Given the description of an element on the screen output the (x, y) to click on. 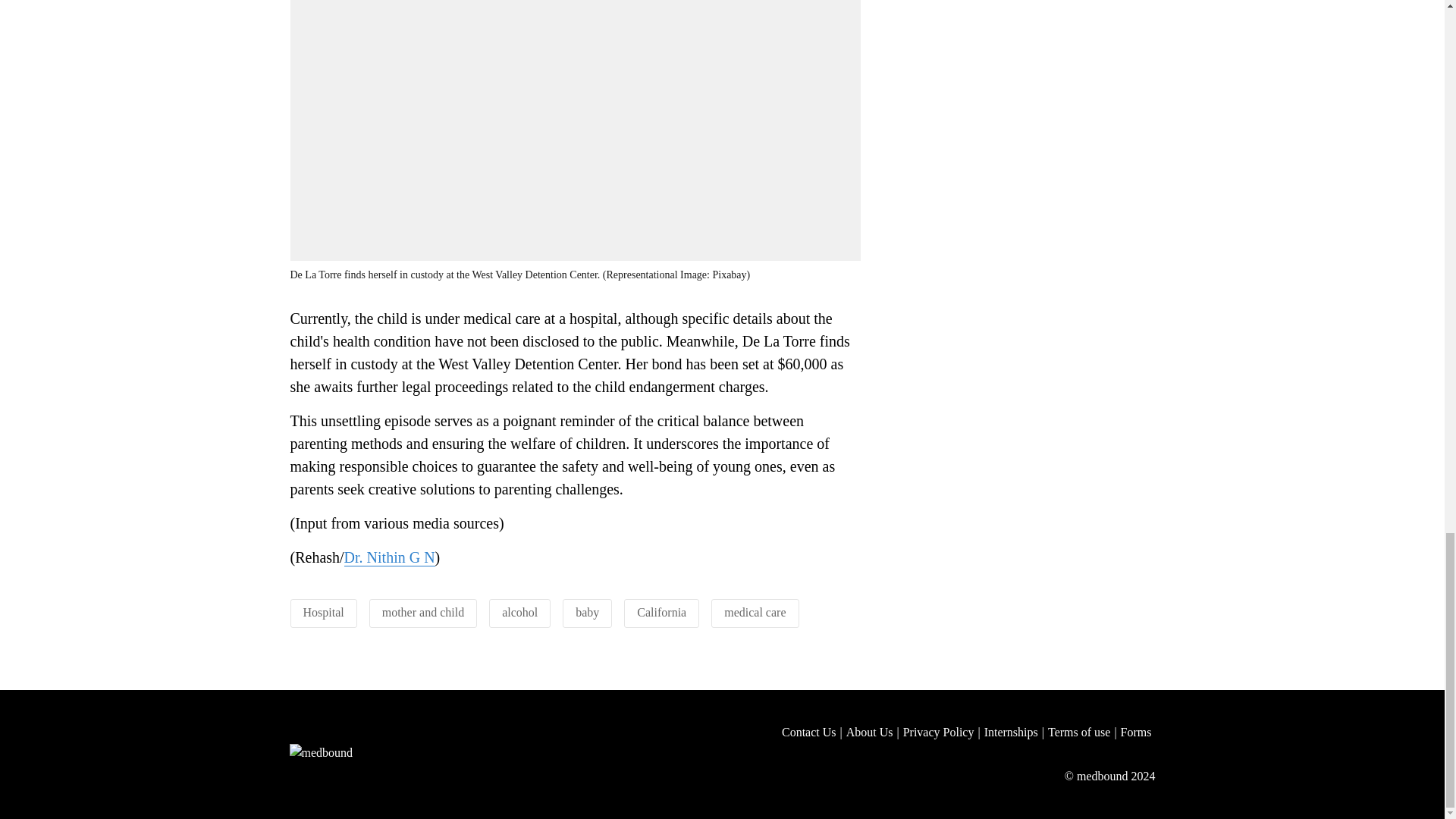
Dr. Nithin G N (389, 557)
alcohol (519, 612)
mother and child (422, 612)
Hospital (322, 612)
baby (586, 612)
